Given the description of an element on the screen output the (x, y) to click on. 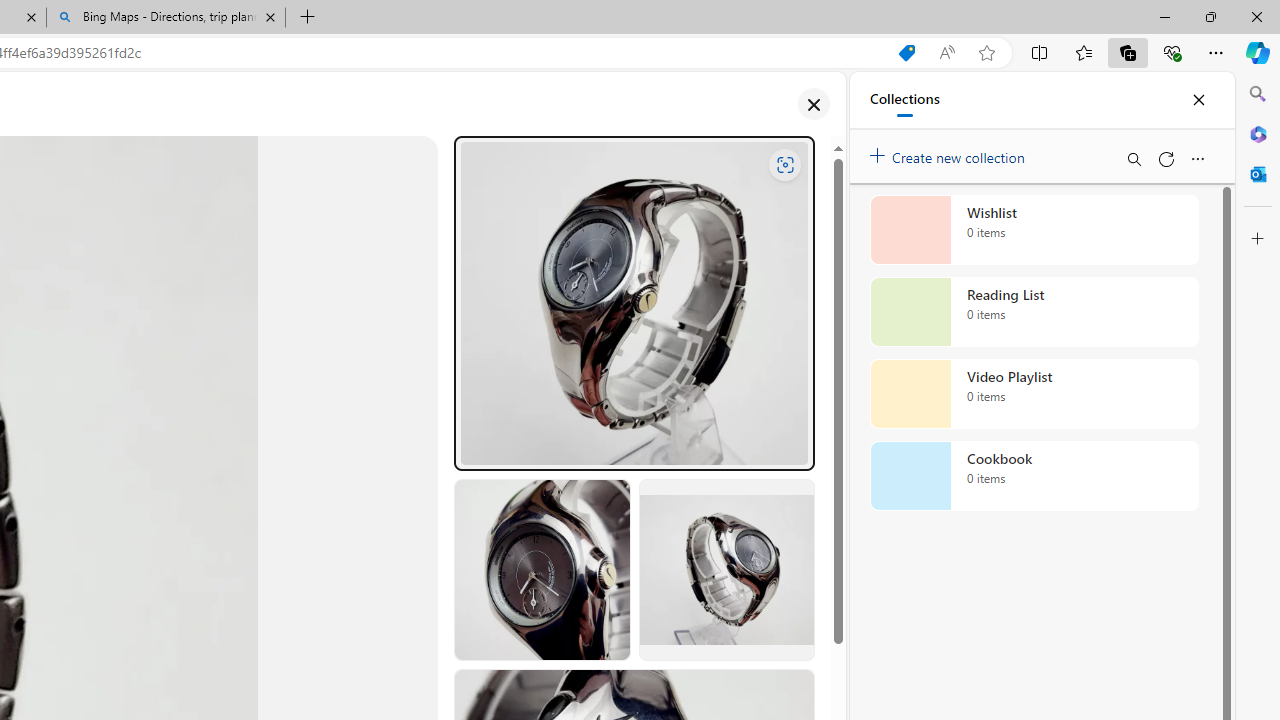
Outlook (1258, 174)
